Given the description of an element on the screen output the (x, y) to click on. 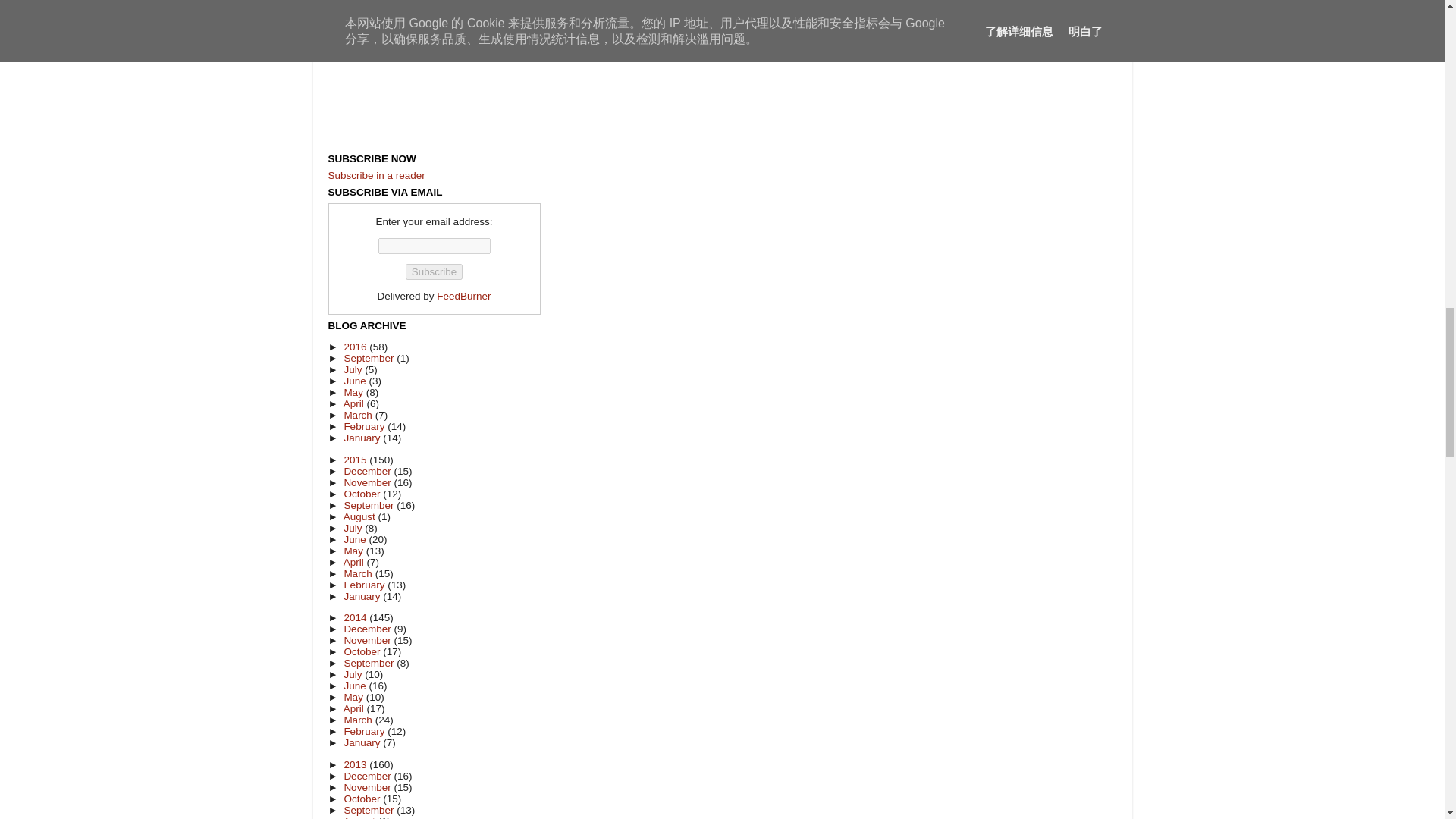
Subscribe (434, 271)
FeedBurner (463, 296)
2016 (356, 346)
Subscribe in a reader (376, 174)
Subscribe (434, 271)
Subscribe to my feed (376, 174)
